Given the description of an element on the screen output the (x, y) to click on. 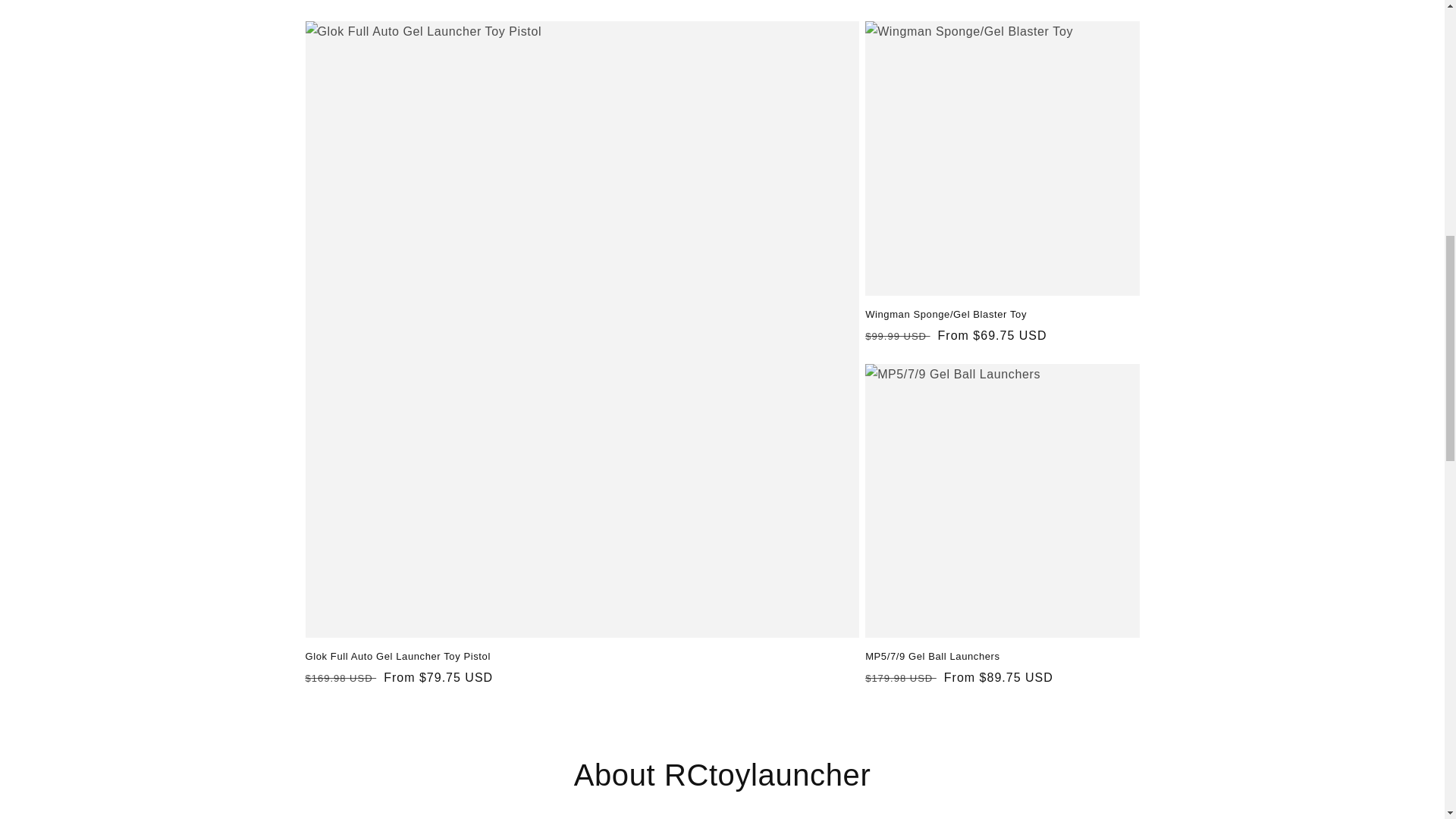
Glok Full Auto Gel Launcher Toy Pistol (581, 656)
